Given the description of an element on the screen output the (x, y) to click on. 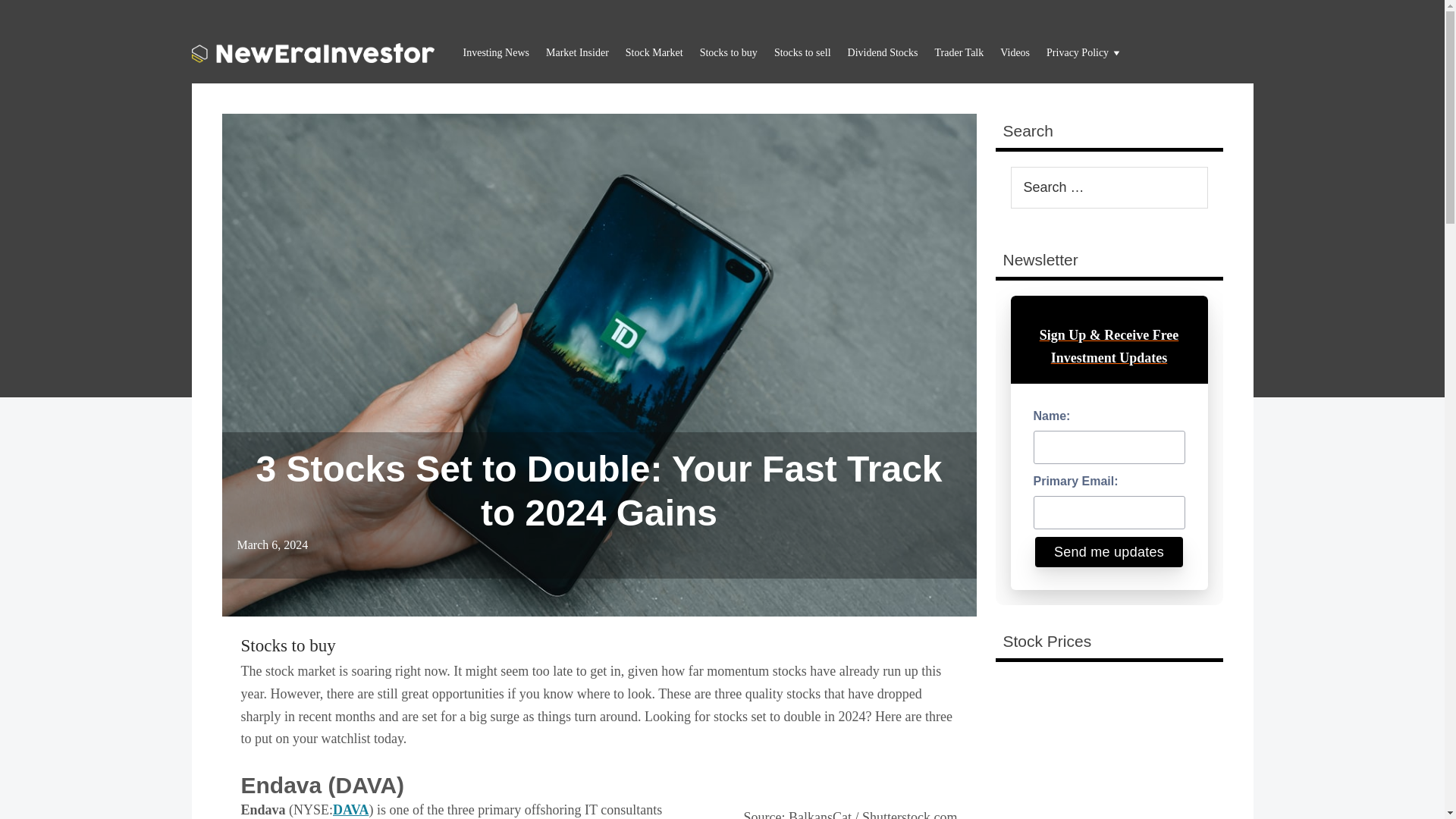
Stocks to buy (288, 645)
Stocks to sell (802, 52)
Send me updates (1108, 552)
Stock Market (654, 52)
Investing News (496, 52)
Dividend Stocks (883, 52)
DAVA (350, 809)
Stocks to buy (288, 645)
